Given the description of an element on the screen output the (x, y) to click on. 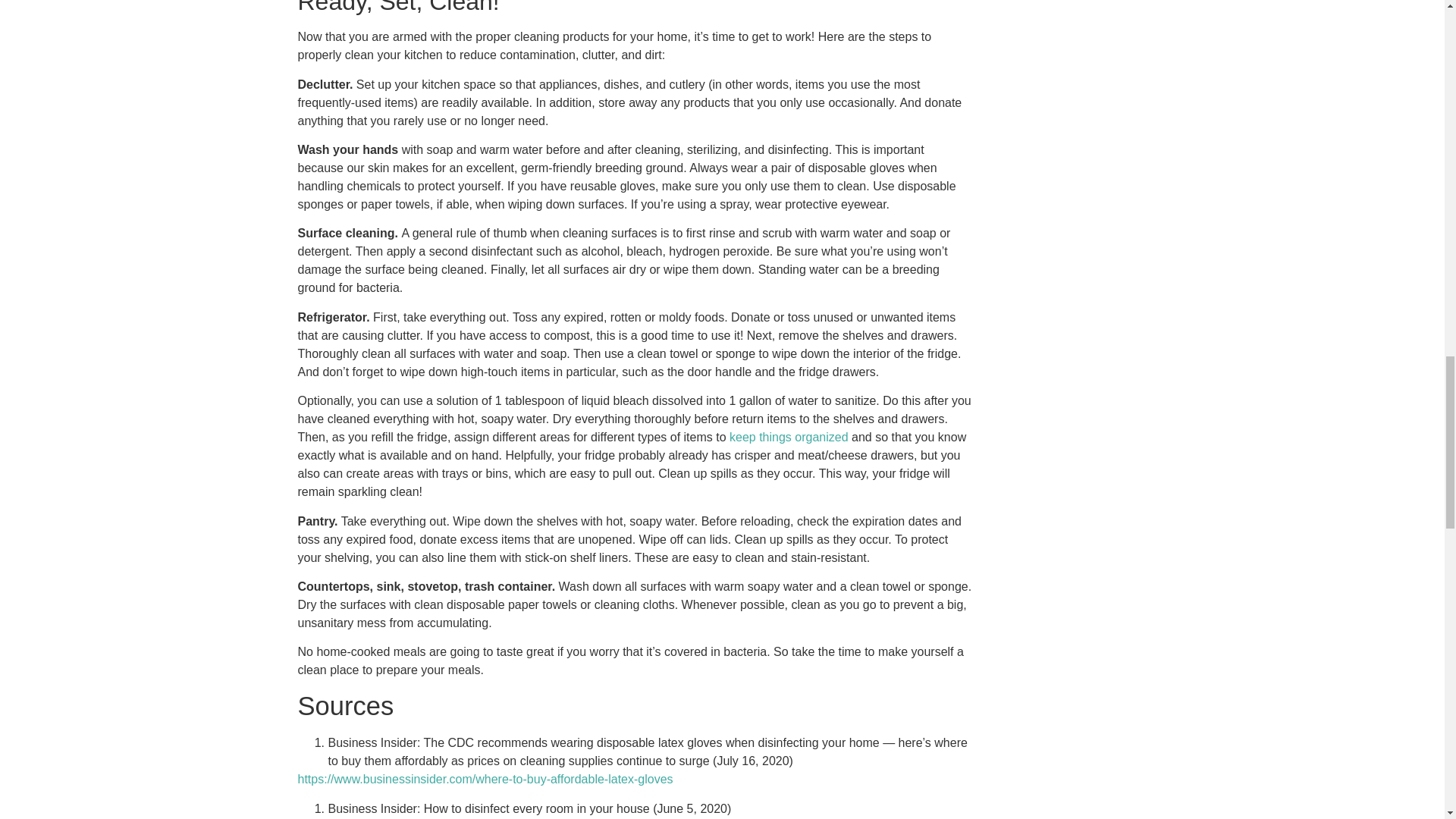
keep things organized (788, 436)
